Given the description of an element on the screen output the (x, y) to click on. 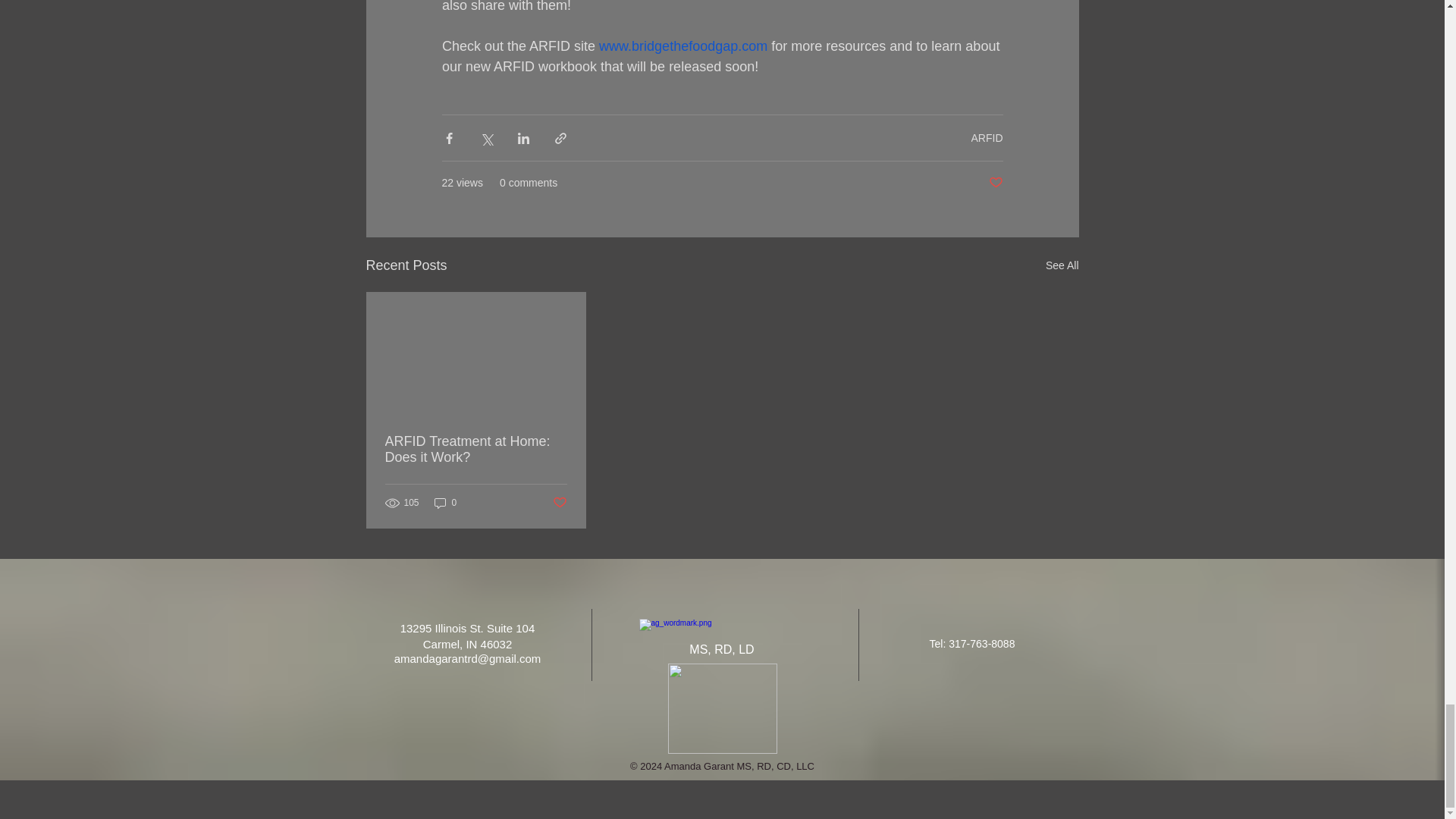
317-763-8088 (981, 644)
0 (445, 503)
ARFID Treatment at Home: Does it Work? (476, 450)
Post not marked as liked (995, 182)
See All (1061, 265)
www.bridgethefoodgap.com (682, 45)
Post not marked as liked (558, 503)
MS, RD, LD (721, 649)
ARFID (987, 137)
